Given the description of an element on the screen output the (x, y) to click on. 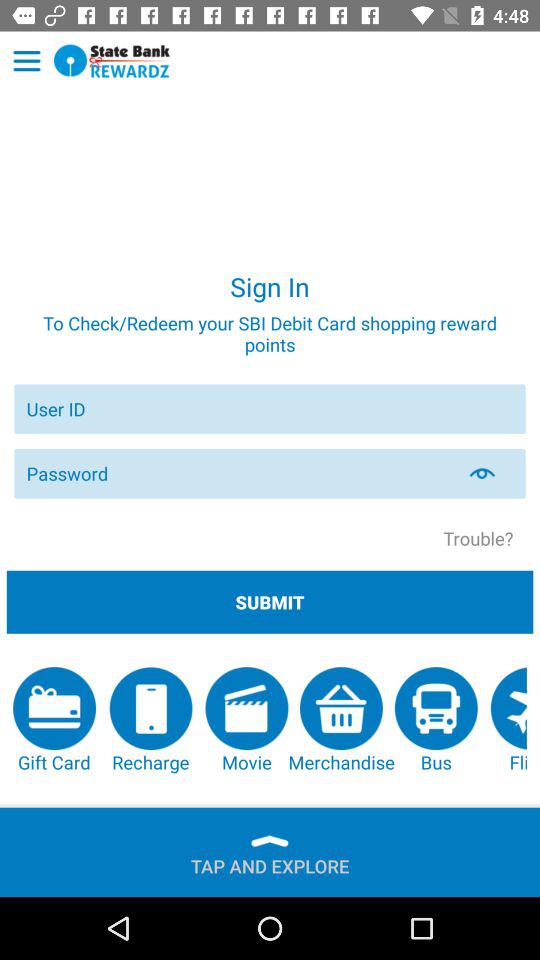
enter password (237, 473)
